Given the description of an element on the screen output the (x, y) to click on. 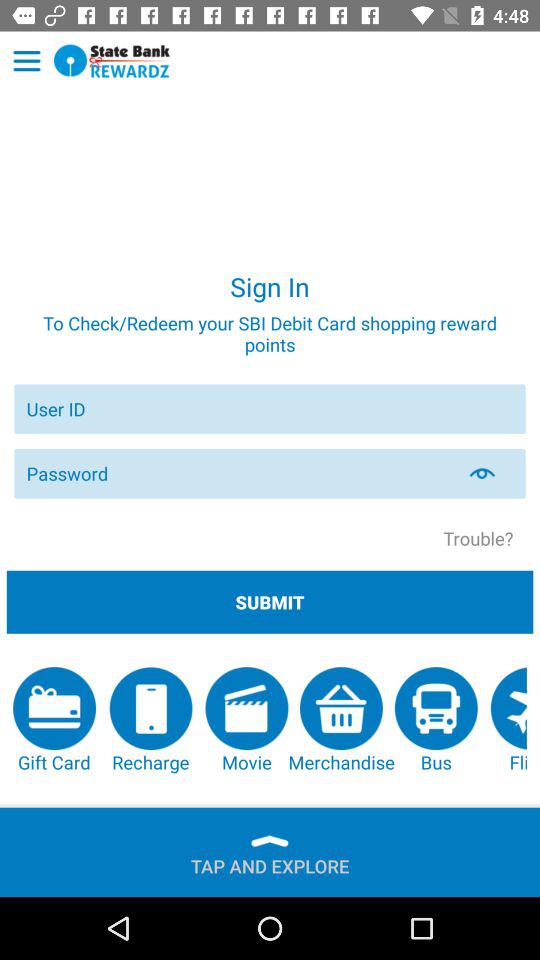
enter password (237, 473)
